Given the description of an element on the screen output the (x, y) to click on. 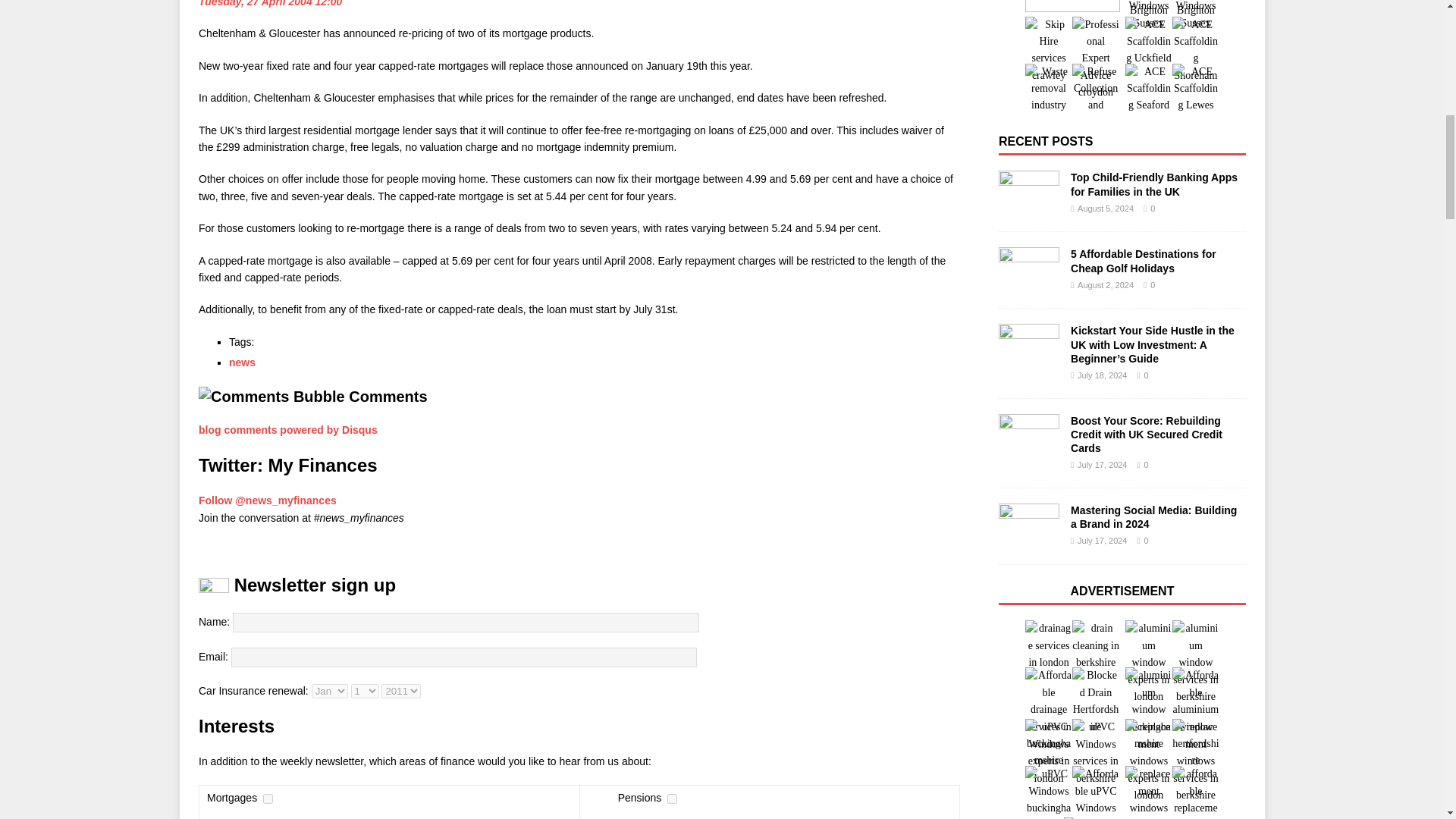
5 Affordable Destinations for Cheap Golf Holidays (1142, 260)
blog comments powered by Disqus (287, 429)
Top Child-Friendly Banking Apps for Families in the UK (1028, 193)
518082 (671, 798)
5 Affordable Destinations for Cheap Golf Holidays (1028, 269)
Tuesday, 27 April 2004 12:00 (270, 3)
news (242, 362)
518078 (268, 798)
Top Child-Friendly Banking Apps for Families in the UK (1153, 184)
